Given the description of an element on the screen output the (x, y) to click on. 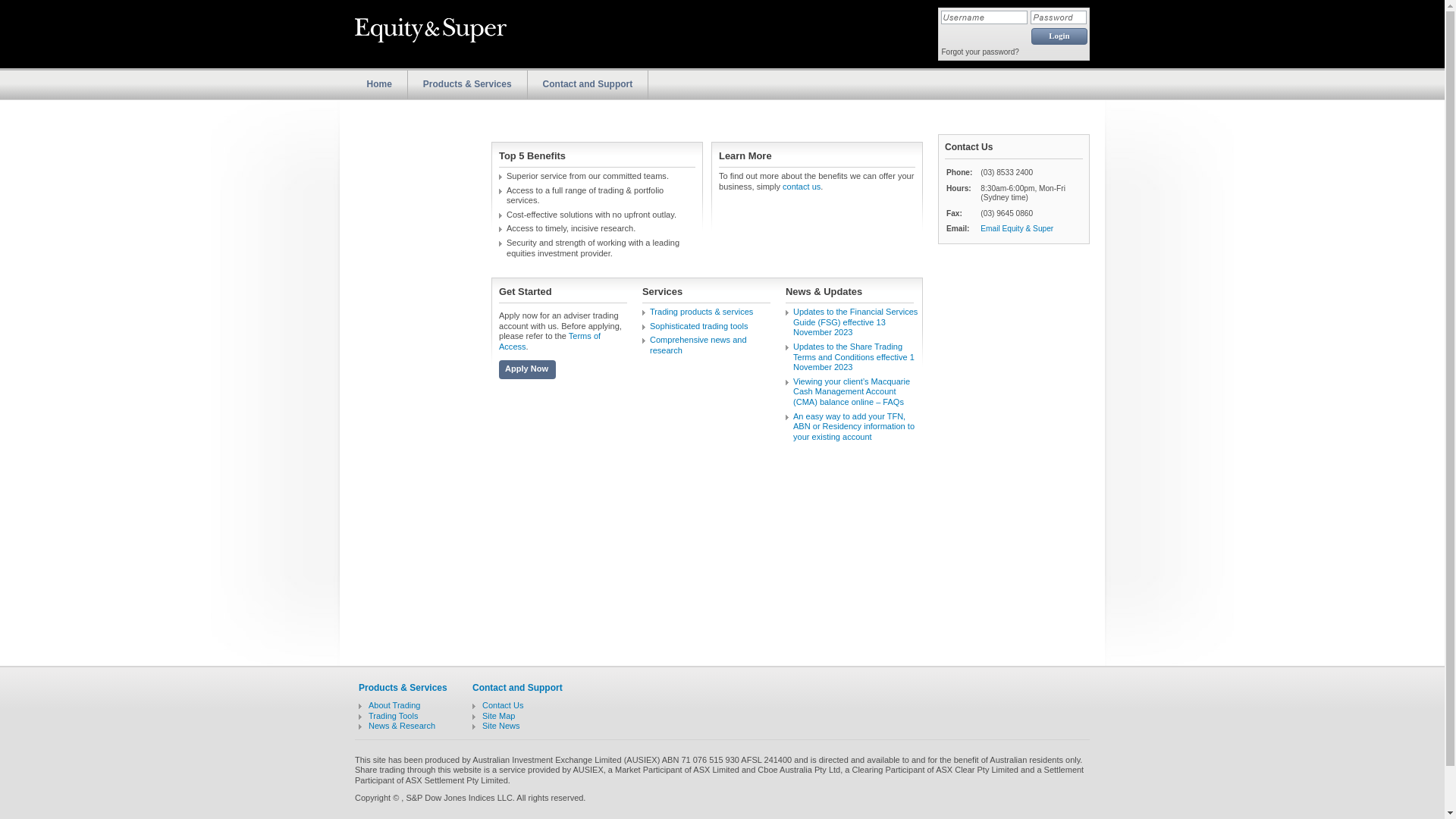
Products & Services Element type: text (402, 687)
Site Map Element type: text (498, 715)
Comprehensive news and research Element type: text (697, 344)
Contact and Support Element type: text (587, 83)
News & Research Element type: text (401, 725)
Forgot your password? Element type: text (980, 51)
About Trading Element type: text (394, 704)
Home Element type: text (379, 83)
Login Element type: text (1059, 36)
Contact and Support Element type: text (517, 687)
Apply Now Element type: text (526, 371)
Sophisticated trading tools Element type: text (698, 325)
Products & Services Element type: text (467, 83)
Trading products & services Element type: text (701, 311)
Contact Us Element type: text (502, 704)
  Element type: text (462, 33)
contact us Element type: text (801, 186)
Trading Tools Element type: text (392, 715)
Site News Element type: text (501, 725)
Email Equity & Super Element type: text (1016, 228)
Terms of Access Element type: text (549, 341)
